Given the description of an element on the screen output the (x, y) to click on. 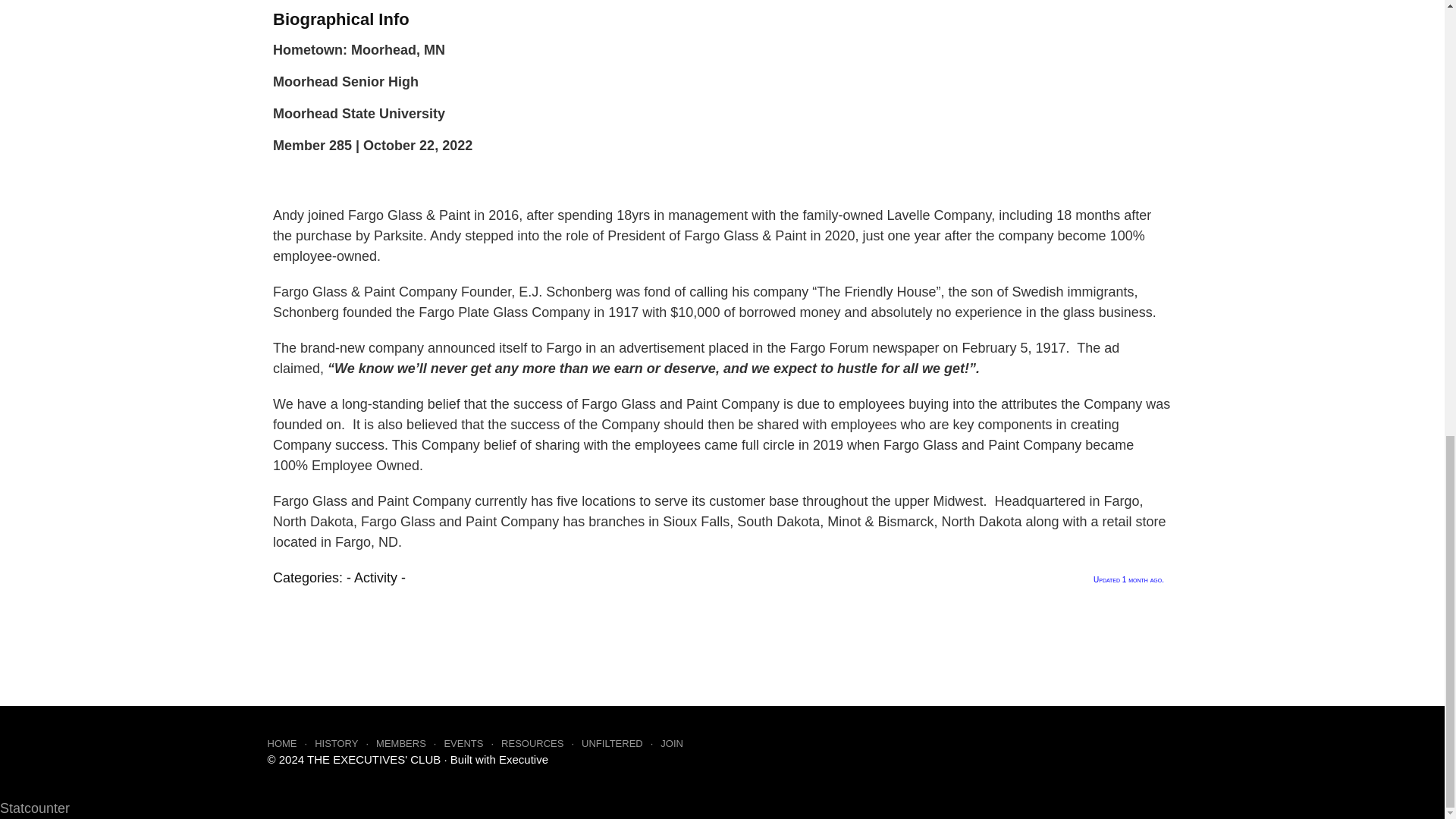
MEMBERS (409, 743)
Executive (523, 758)
UNFILTERED (620, 743)
THE EXECUTIVES' CLUB (374, 758)
EVENTS (472, 743)
THE EXECUTIVES' CLUB (374, 758)
HOME (290, 743)
Statcounter (34, 807)
RESOURCES (540, 743)
HISTORY (344, 743)
